Given the description of an element on the screen output the (x, y) to click on. 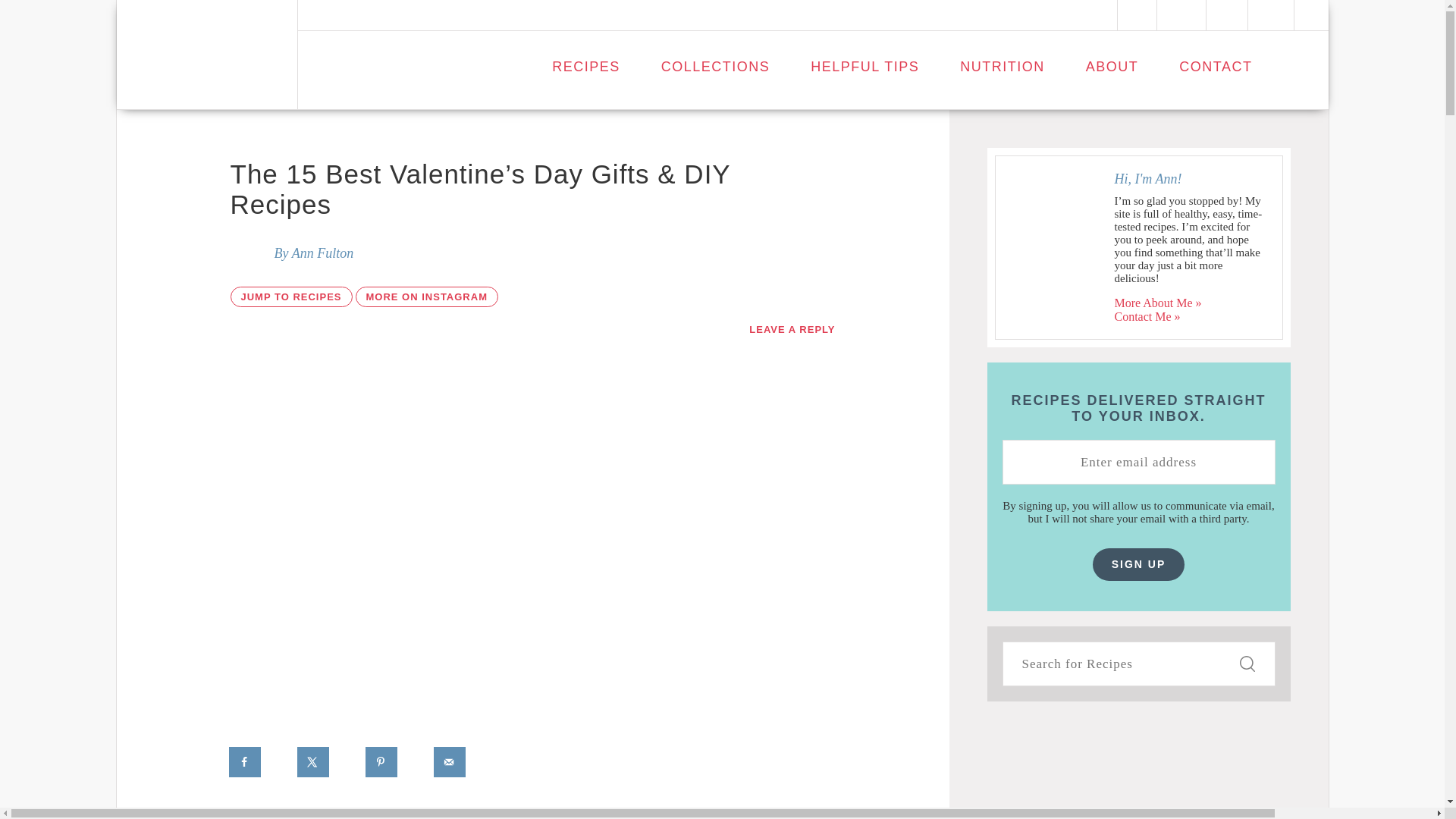
MORE ON INSTAGRAM (426, 296)
COLLECTIONS (715, 66)
JUMP TO RECIPES (291, 296)
ABOUT (1112, 66)
Share on X (313, 761)
Send over email (450, 761)
Easy Recipes (207, 54)
Share on Facebook (245, 761)
Save to Pinterest (381, 761)
HELPFUL TIPS (864, 66)
